Given the description of an element on the screen output the (x, y) to click on. 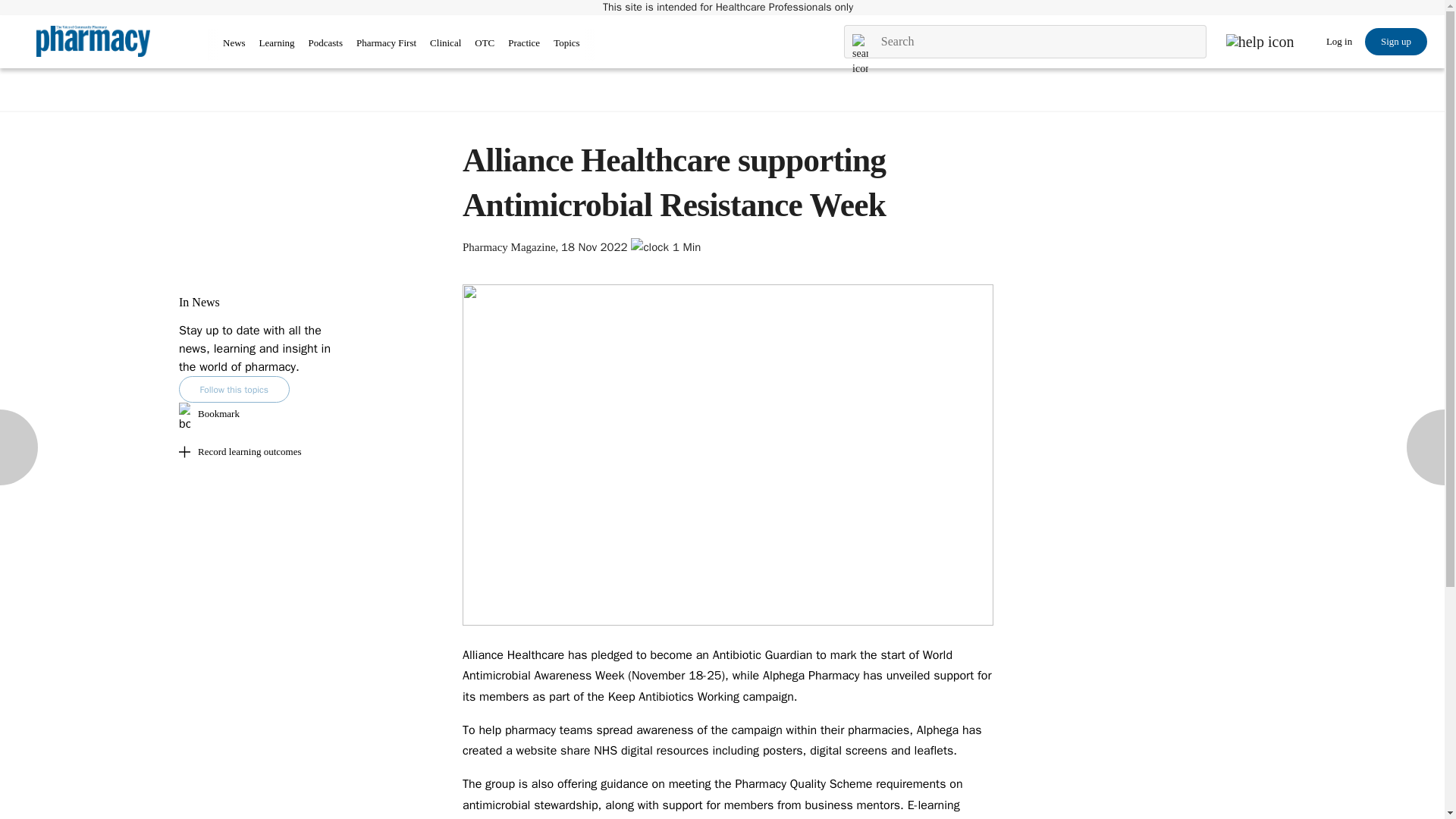
Pharmacy First (386, 42)
Learning (277, 42)
News (234, 42)
Topics (566, 42)
